Given the description of an element on the screen output the (x, y) to click on. 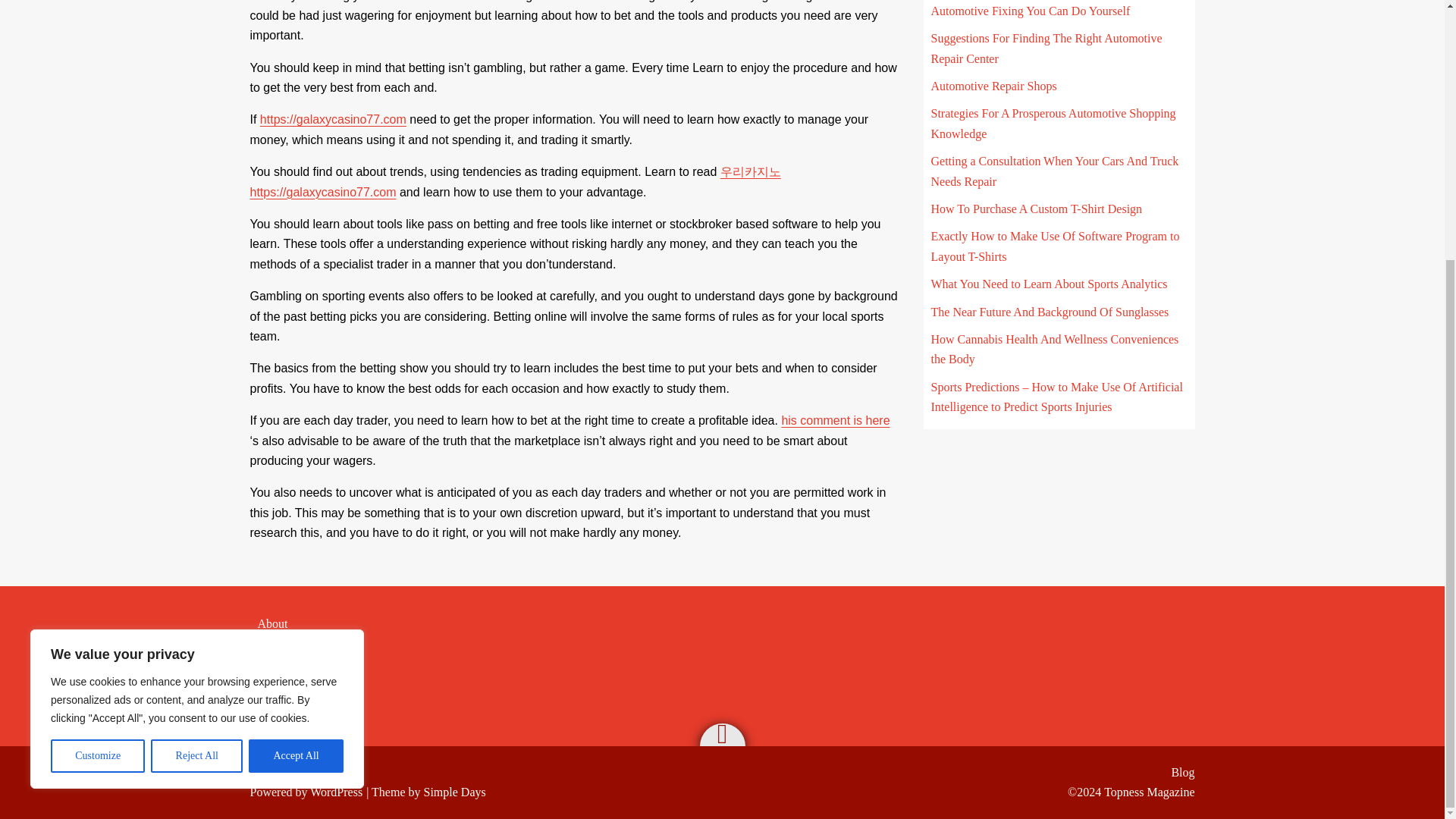
Automotive Repair Shops (994, 85)
How Cannabis Health And Wellness Conveniences the Body (1055, 348)
How To Purchase A Custom T-Shirt Design (1036, 208)
The Near Future And Background Of Sunglasses (1050, 311)
What You Need to Learn About Sports Analytics (1049, 283)
Automotive Fixing You Can Do Yourself (1031, 10)
About (272, 623)
Suggestions For Finding The Right Automotive Repair Center (1046, 47)
Accept All (295, 384)
his comment is here (834, 420)
Strategies For A Prosperous Automotive Shopping Knowledge (1053, 123)
Customize (97, 384)
Reject All (197, 384)
Getting a Consultation When Your Cars And Truck Needs Repair (1055, 170)
